Given the description of an element on the screen output the (x, y) to click on. 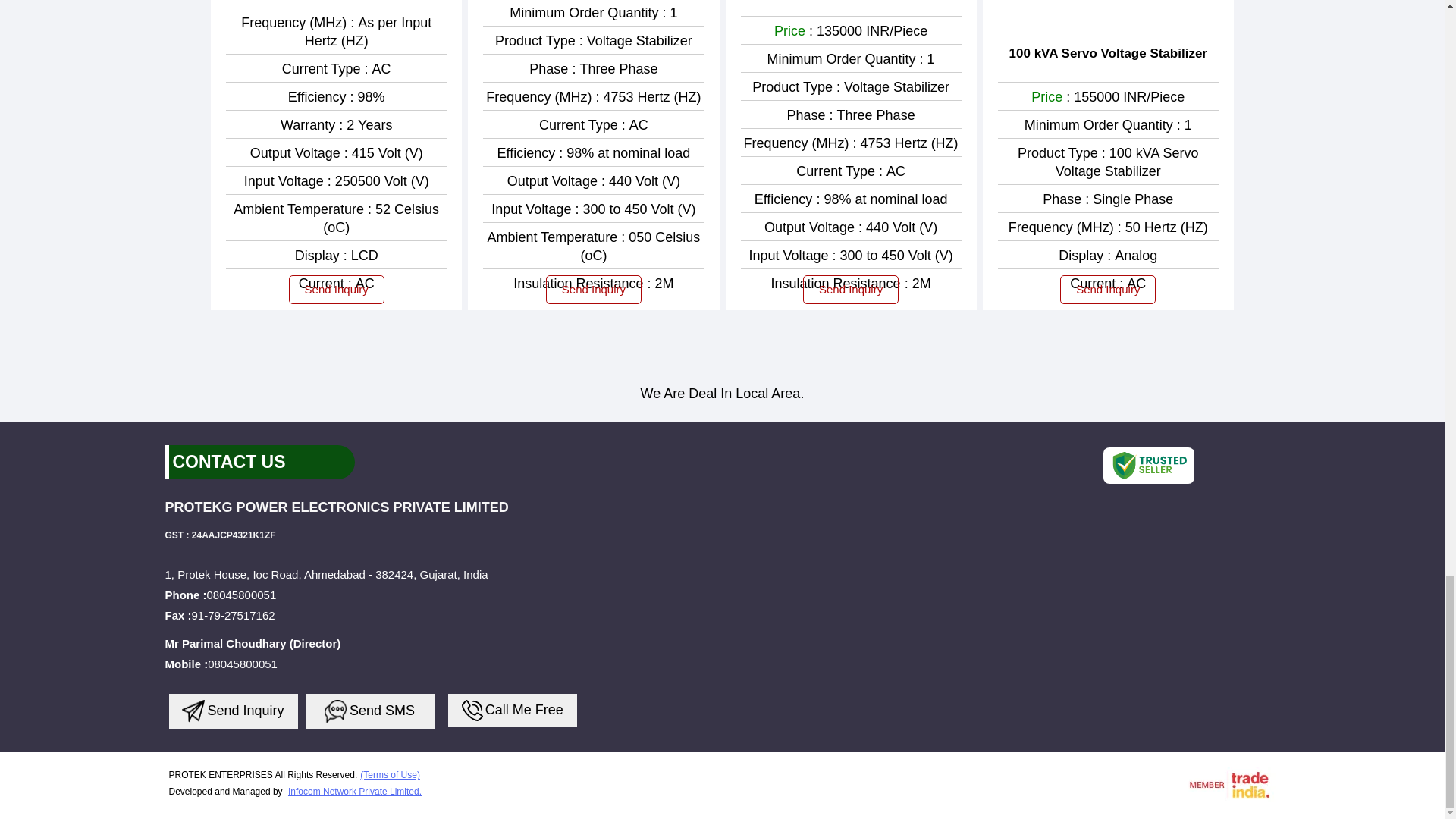
Send Inquiry (193, 711)
Send Inquiry (335, 711)
Send Inquiry (472, 710)
